Given the description of an element on the screen output the (x, y) to click on. 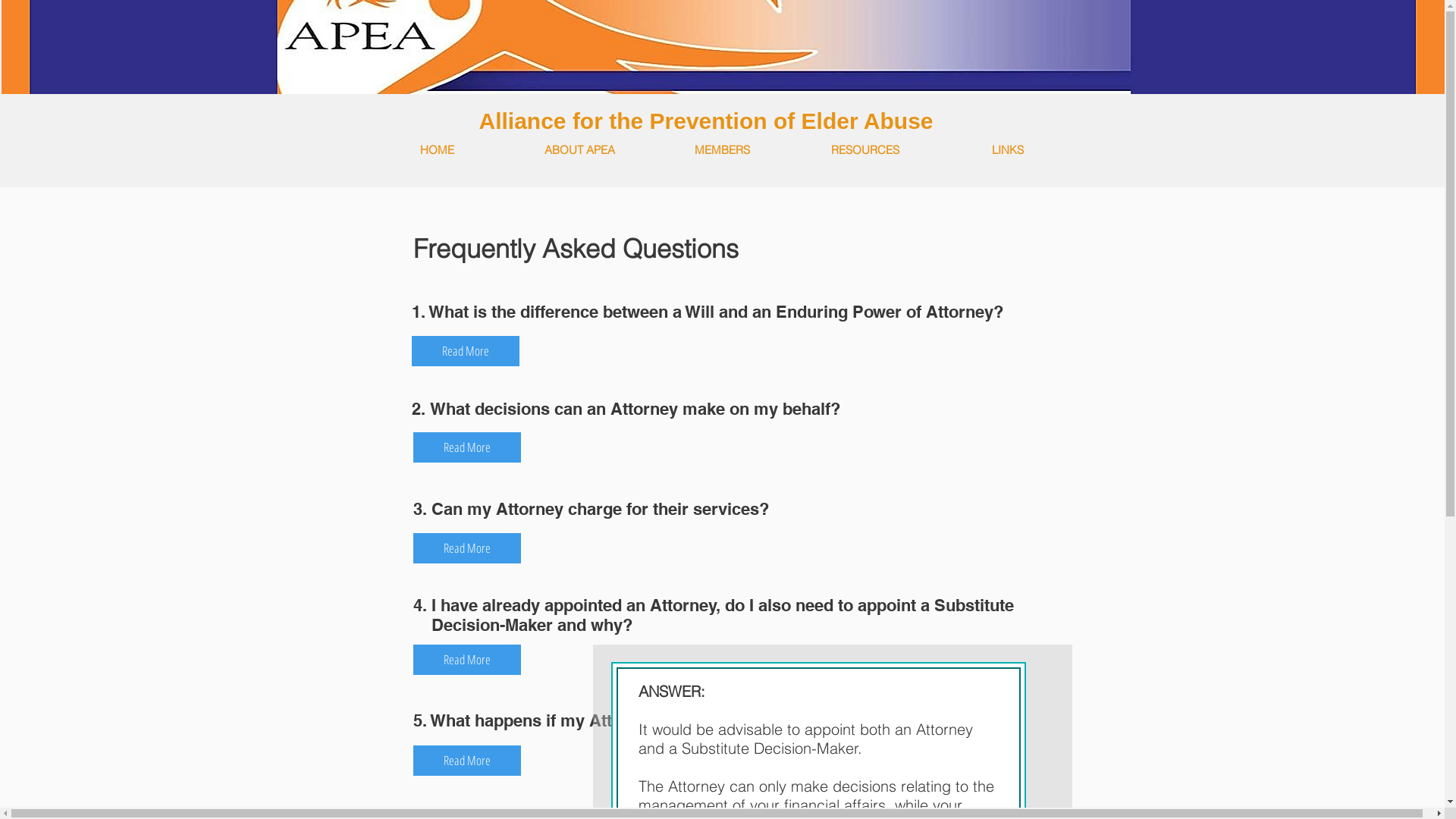
LINKS Element type: text (1006, 150)
RESOURCES Element type: text (864, 150)
final apea three.png Element type: hover (728, 47)
HOME Element type: text (436, 150)
Read More Element type: text (466, 447)
Read More Element type: text (466, 548)
Read More Element type: text (464, 350)
MEMBERS Element type: text (721, 150)
ABOUT APEA Element type: text (579, 150)
